Given the description of an element on the screen output the (x, y) to click on. 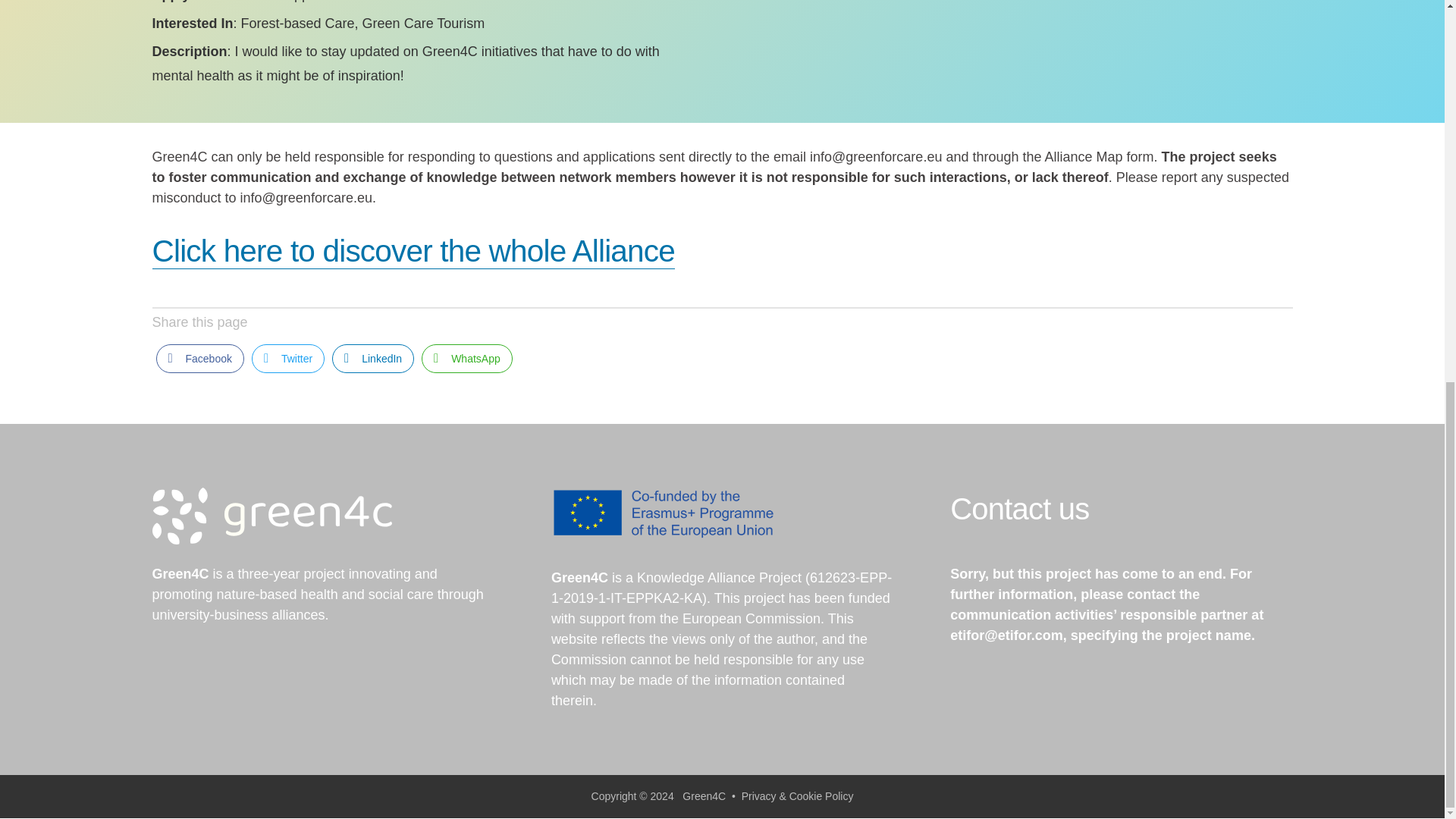
LinkedIn (372, 358)
WhatsApp (467, 358)
Click here to discover the whole Alliance (412, 251)
Green4C (703, 797)
Twitter (287, 358)
Facebook (199, 358)
